Given the description of an element on the screen output the (x, y) to click on. 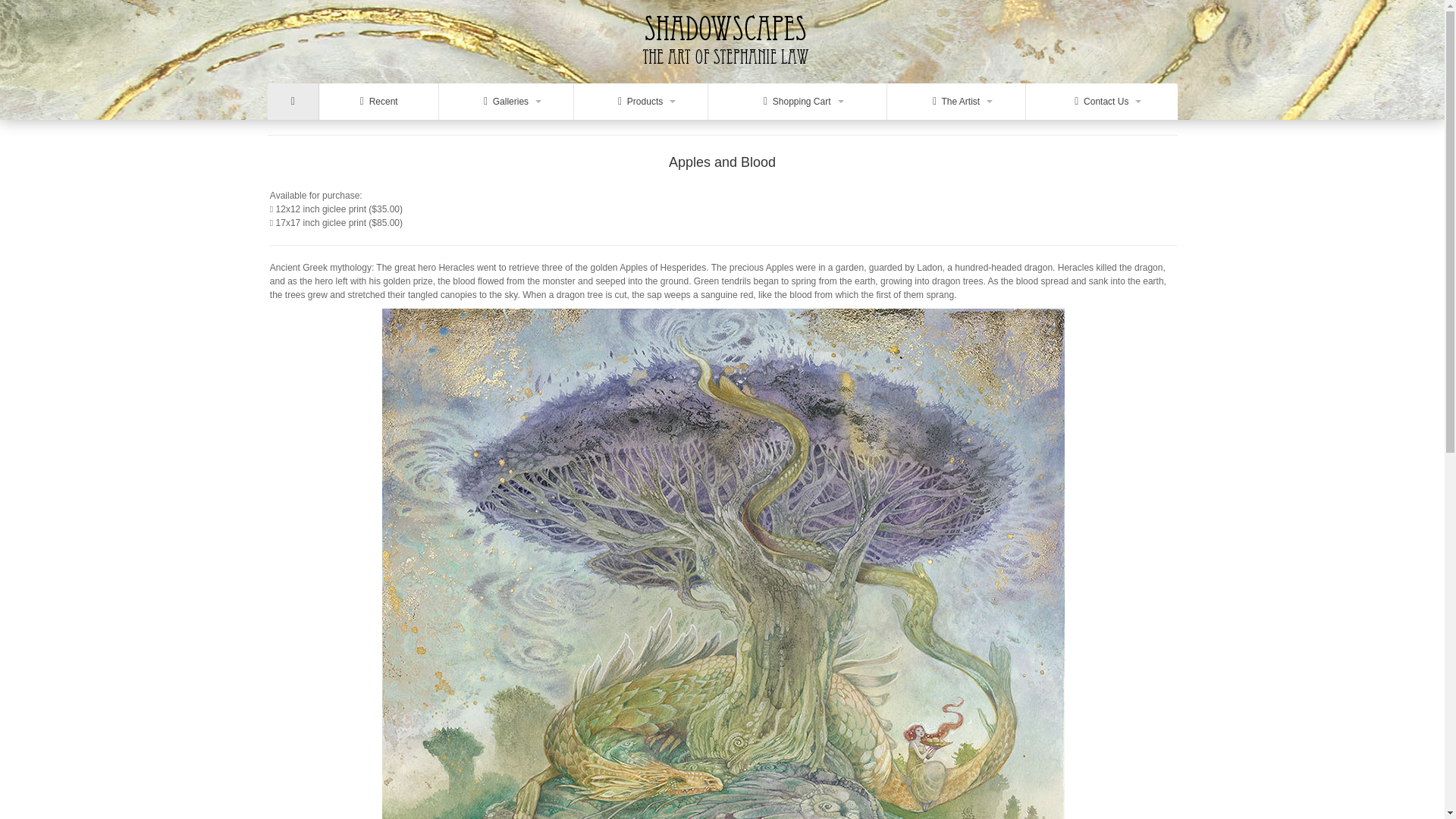
  Galleries (506, 101)
Shadowscapes - The Art of Stephanie Law (721, 72)
  Recent (378, 101)
  Products (640, 101)
